Given the description of an element on the screen output the (x, y) to click on. 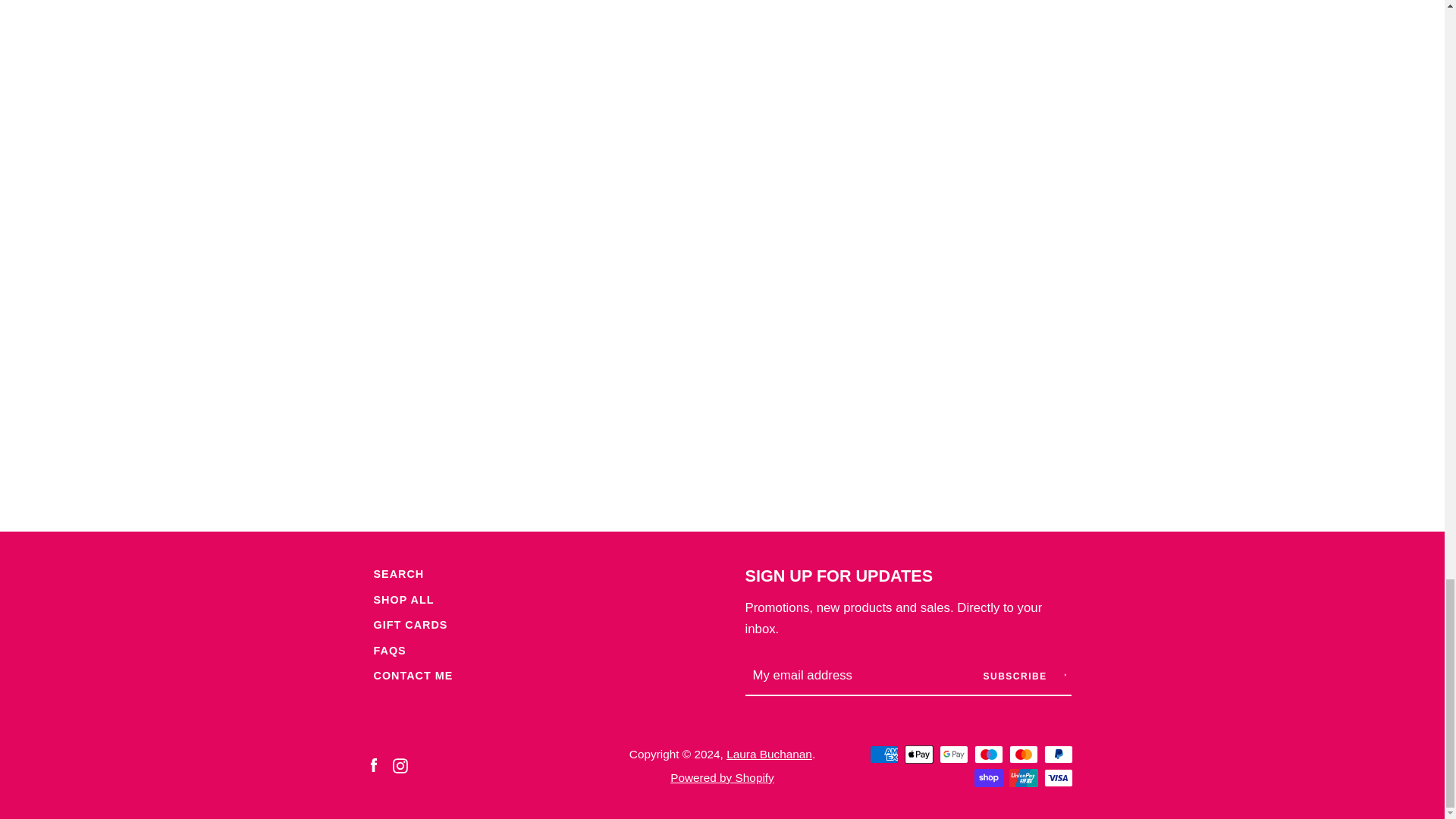
Visa (1057, 778)
American Express (883, 754)
Laura Buchanan on Facebook (372, 764)
Mastercard (1022, 754)
PayPal (1057, 754)
Apple Pay (918, 754)
Union Pay (1022, 778)
Shop Pay (988, 778)
Google Pay (953, 754)
Laura Buchanan on Instagram (400, 764)
